Given the description of an element on the screen output the (x, y) to click on. 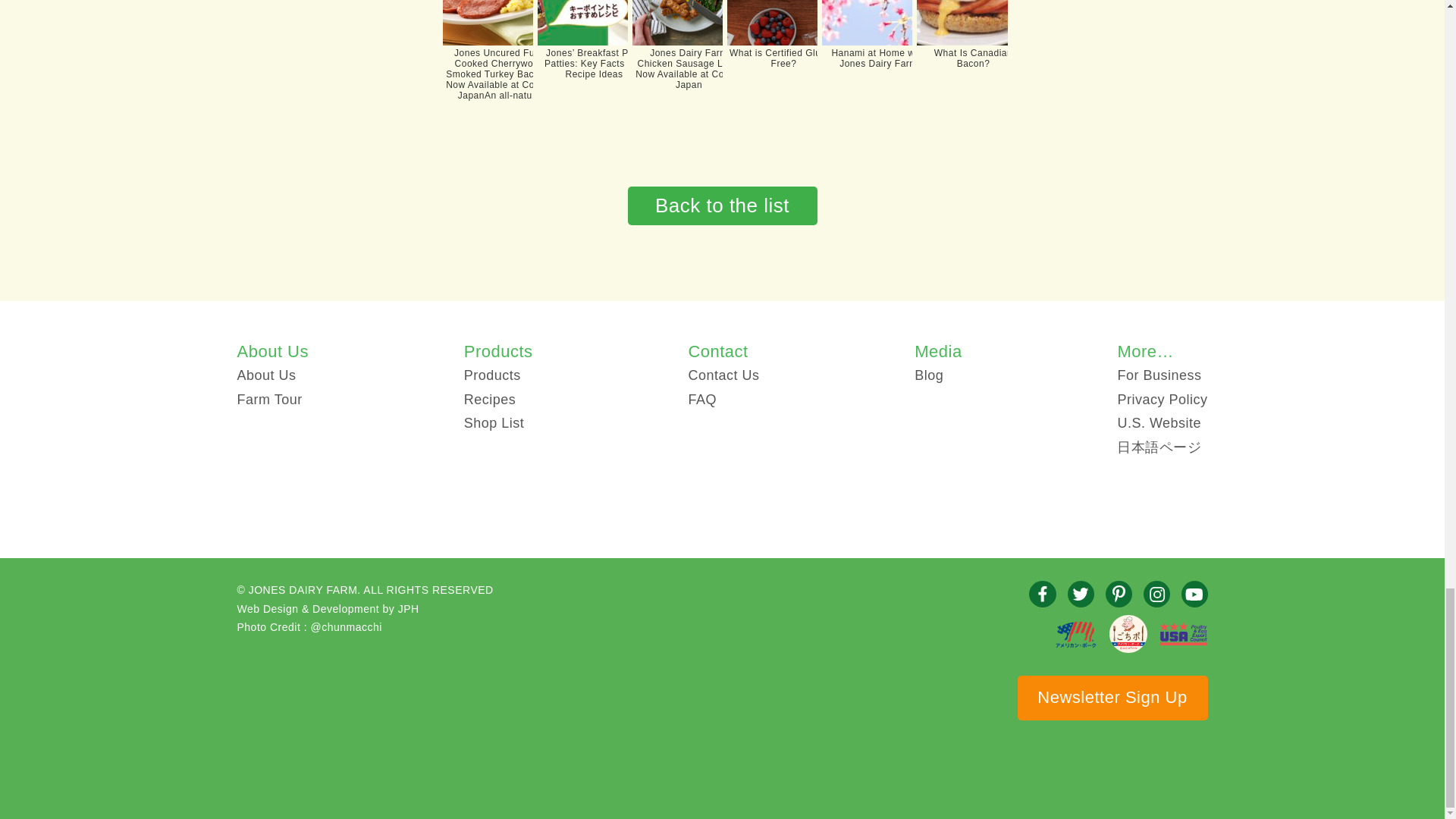
What is Certified Gluten-Free? (769, 53)
